Given the description of an element on the screen output the (x, y) to click on. 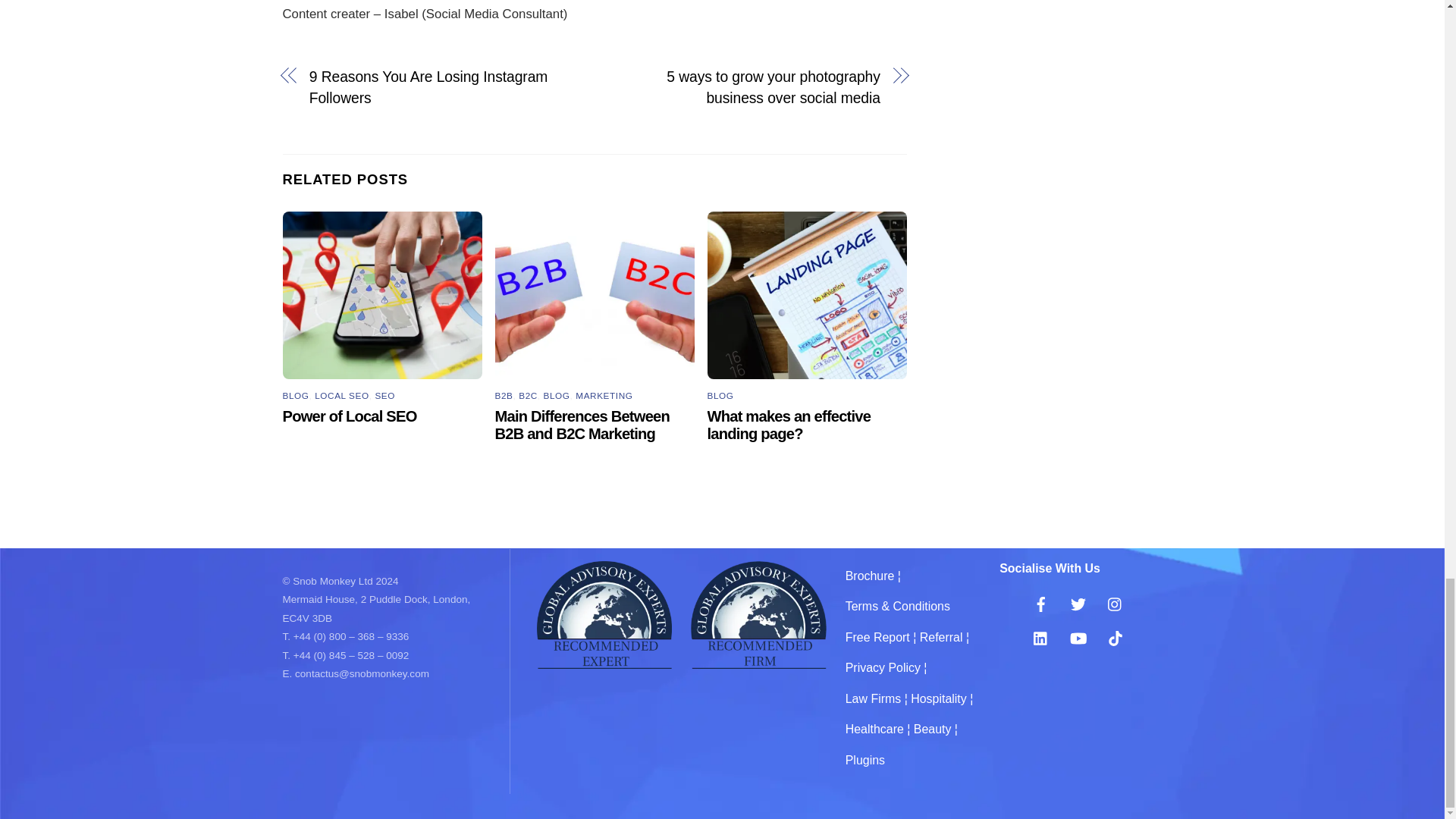
SEO (384, 395)
Main Differences Between B2B and B2C Marketing (582, 424)
5 ways to grow your photography business over social media (746, 87)
BLOG (556, 395)
B2C (527, 395)
B2B (504, 395)
9 Reasons You Are Losing Instagram Followers (442, 87)
BLOG (295, 395)
LOCAL SEO (341, 395)
Power of Local SEO (349, 416)
MARKETING (603, 395)
